Given the description of an element on the screen output the (x, y) to click on. 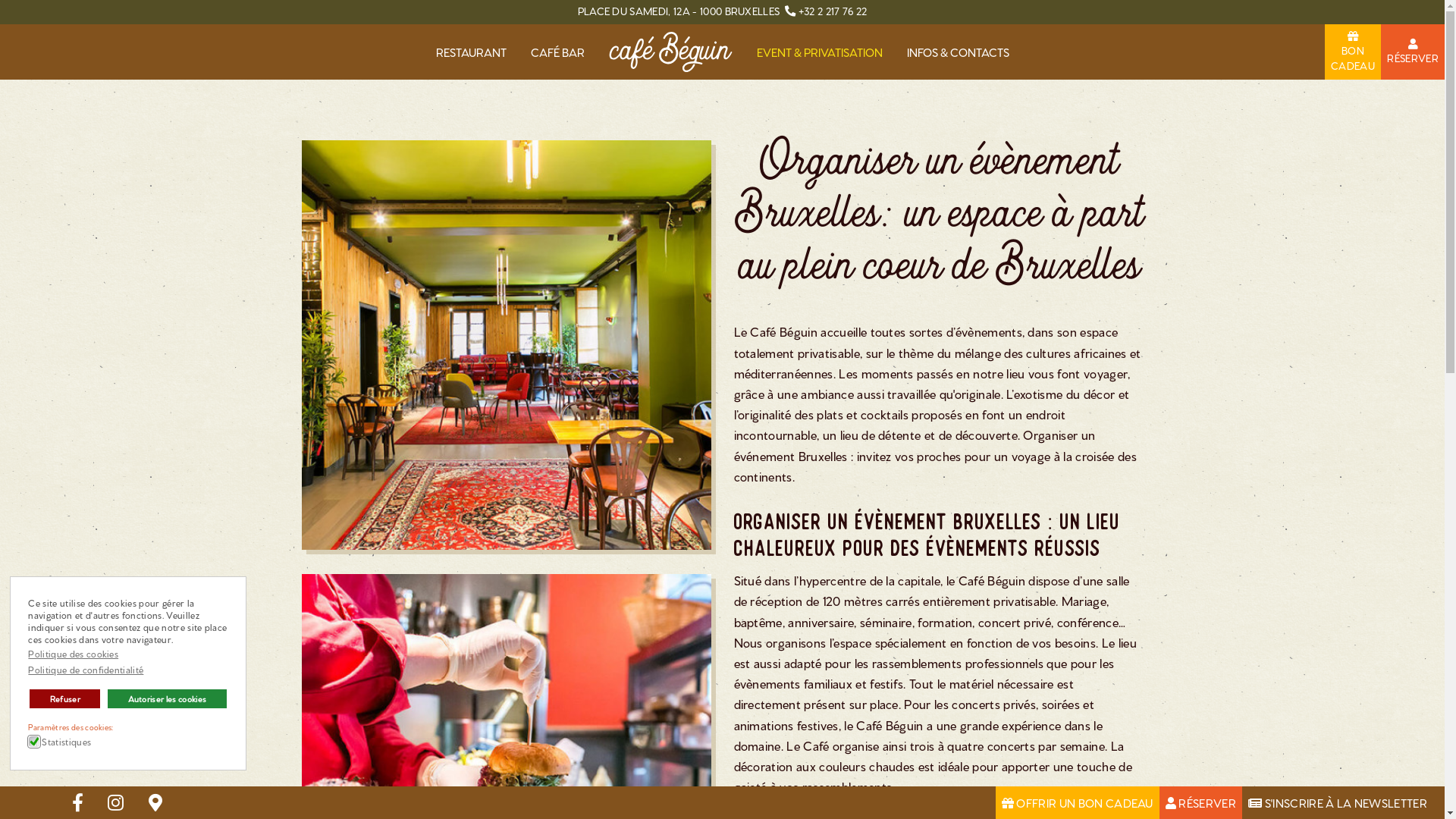
BON
CADEAU Element type: text (1352, 49)
EVENT & PRIVATISATION Element type: text (819, 51)
RESTAURANT Element type: text (470, 51)
OFFRIR UN BON CADEAU Element type: text (1077, 802)
Autoriser les cookies Element type: text (166, 698)
PLACE DU SAMEDI, 12A - 1000 BRUXELLES Element type: text (678, 9)
Statistiques Element type: text (68, 741)
+32 2 217 76 22 Element type: text (832, 9)
Refuser Element type: text (64, 698)
Politique des cookies Element type: text (73, 653)
INFOS & CONTACTS Element type: text (957, 51)
